Given the description of an element on the screen output the (x, y) to click on. 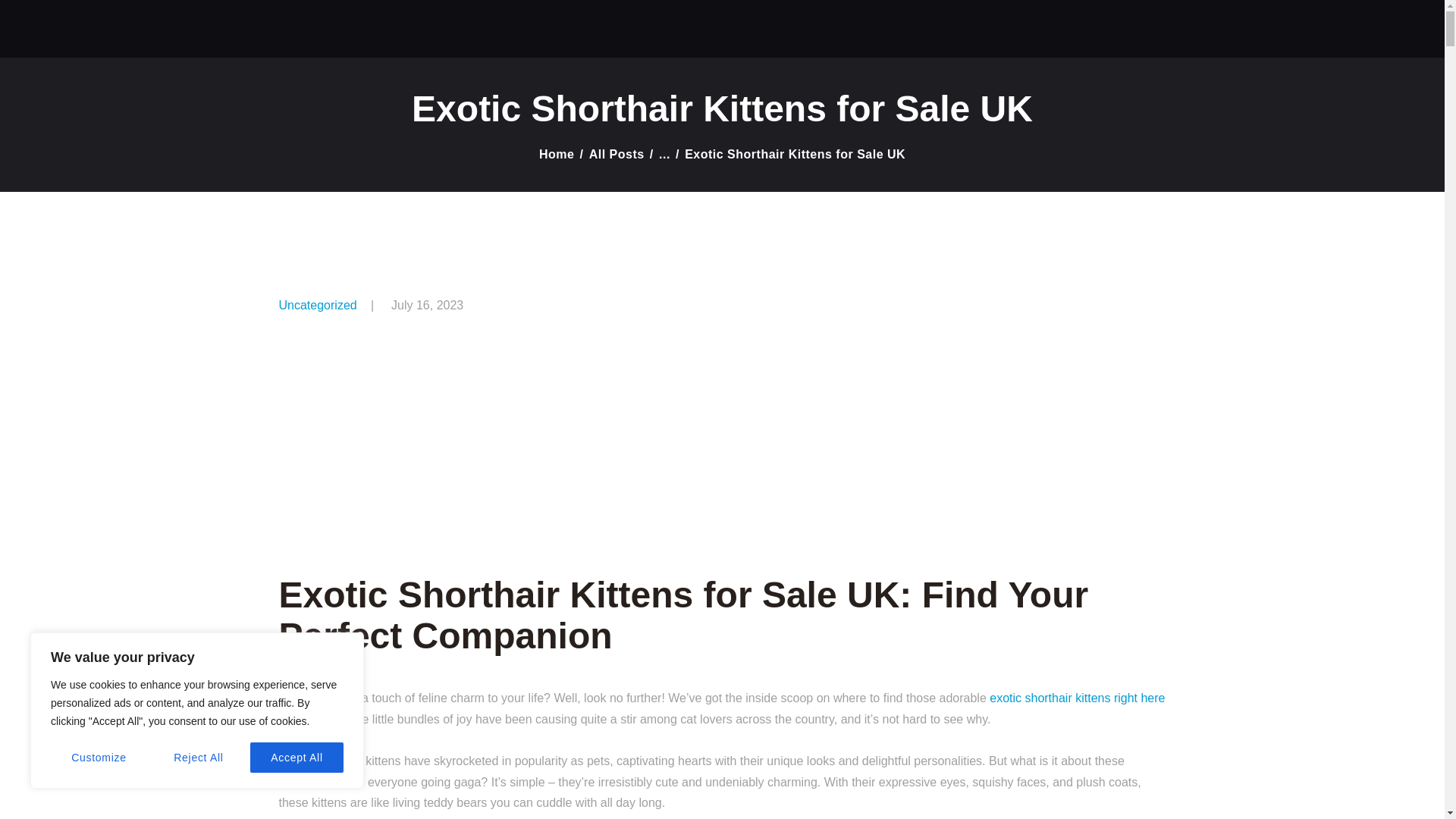
Customize (98, 757)
Accept All (296, 757)
Home (555, 154)
Reject All (198, 757)
All Posts (617, 154)
